Given the description of an element on the screen output the (x, y) to click on. 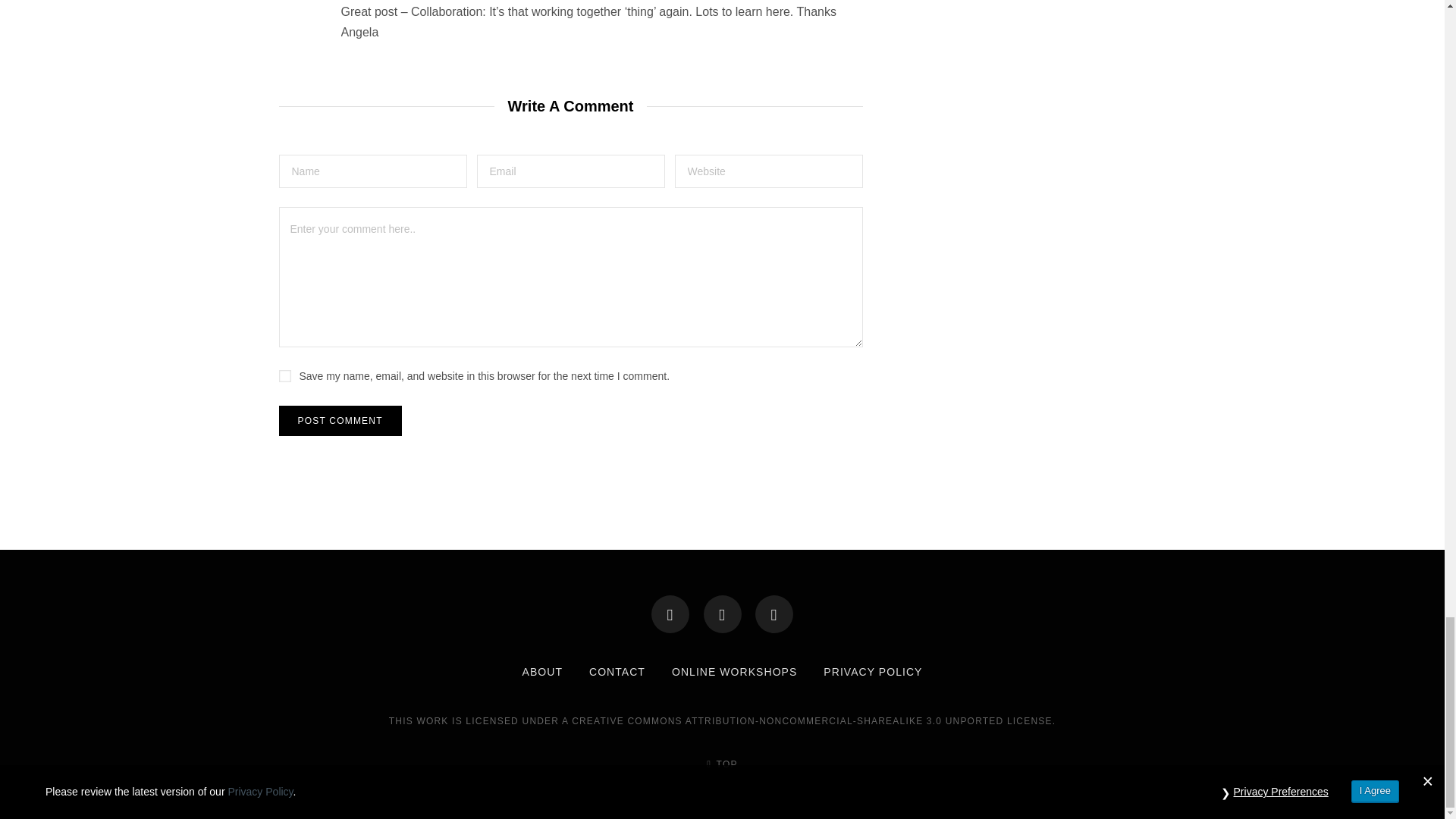
yes (285, 376)
Post Comment (340, 420)
Post Comment (340, 420)
